Given the description of an element on the screen output the (x, y) to click on. 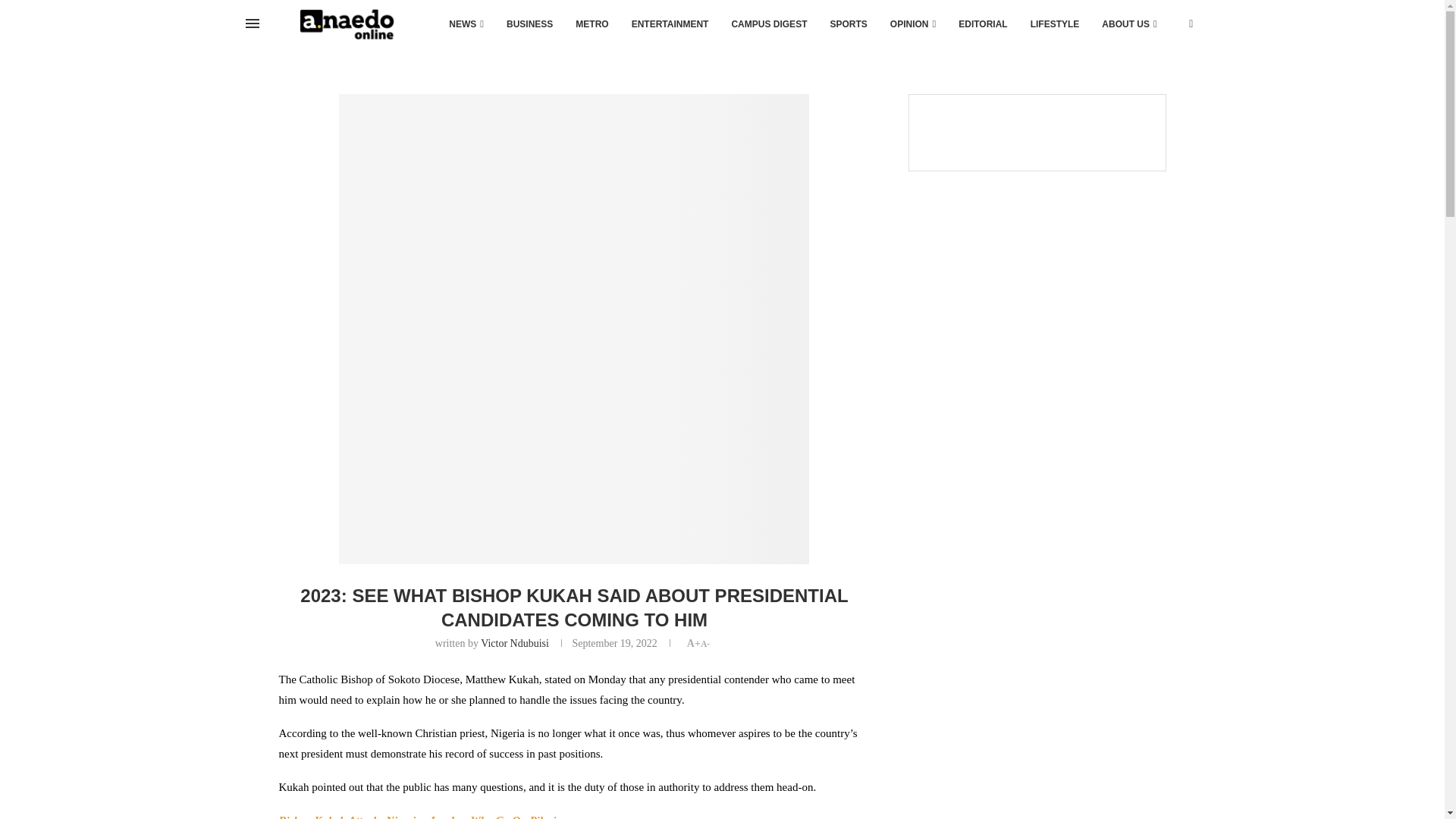
CAMPUS DIGEST (768, 23)
ENTERTAINMENT (670, 23)
LIFESTYLE (1054, 23)
EDITORIAL (982, 23)
OPINION (913, 23)
BUSINESS (529, 23)
ABOUT US (1128, 23)
SPORTS (847, 23)
METRO (592, 23)
